Given the description of an element on the screen output the (x, y) to click on. 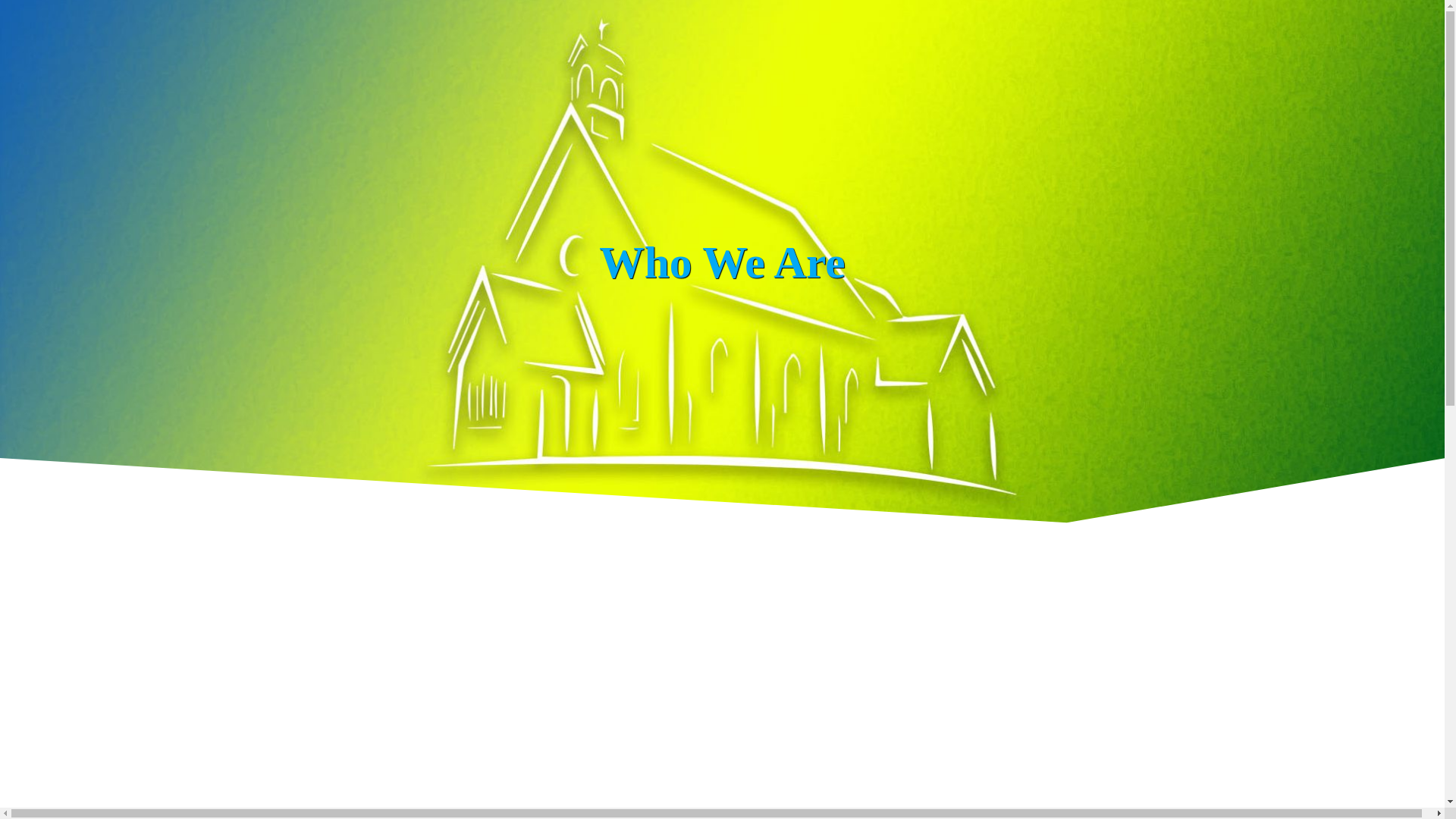
GALLERY (765, 48)
MISSIONS (650, 48)
PHYSICAL RESOURCES (938, 48)
CONTACT (1240, 48)
CEMETERY (1118, 48)
